Given the description of an element on the screen output the (x, y) to click on. 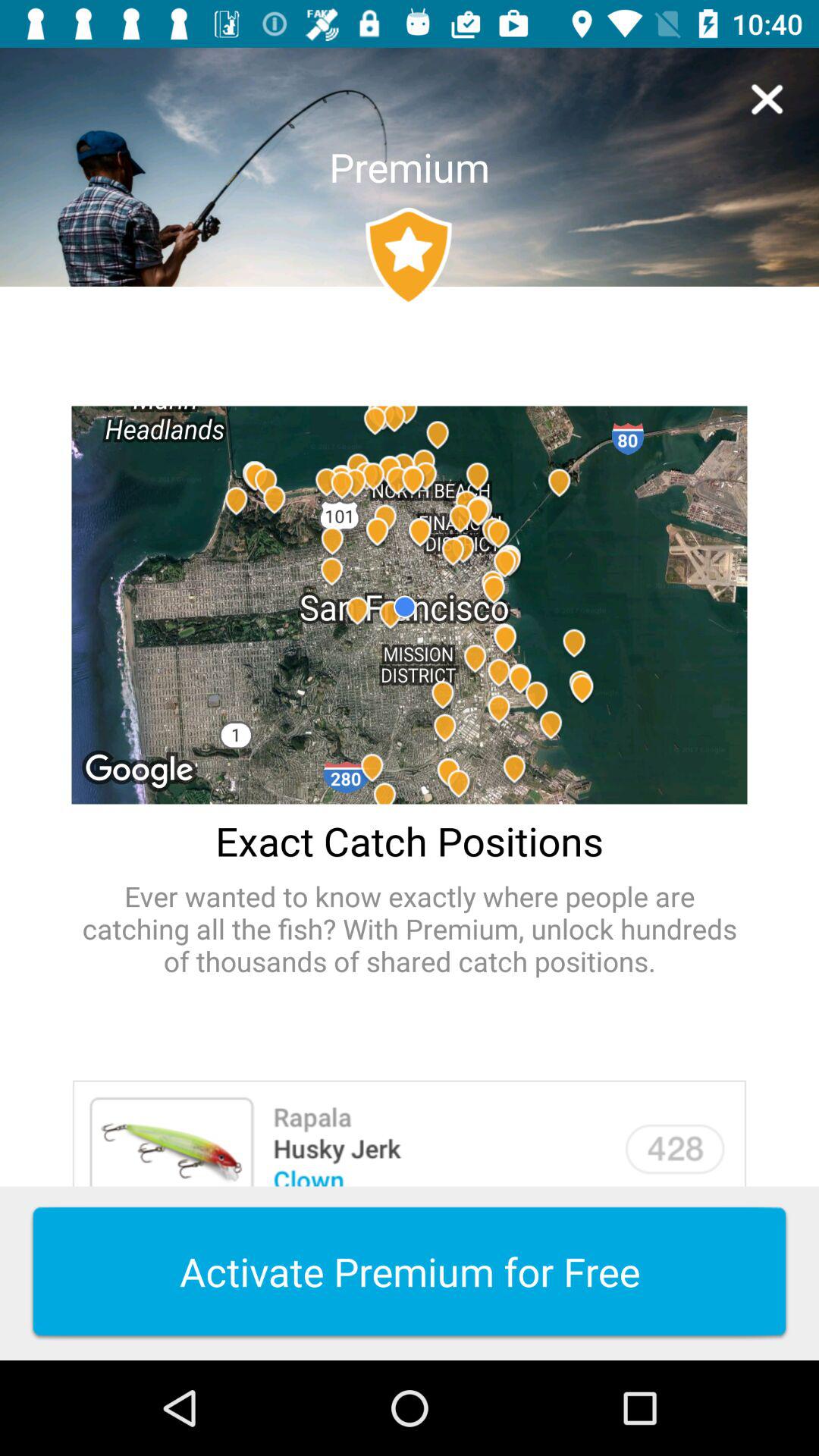
closes the app (767, 99)
